Given the description of an element on the screen output the (x, y) to click on. 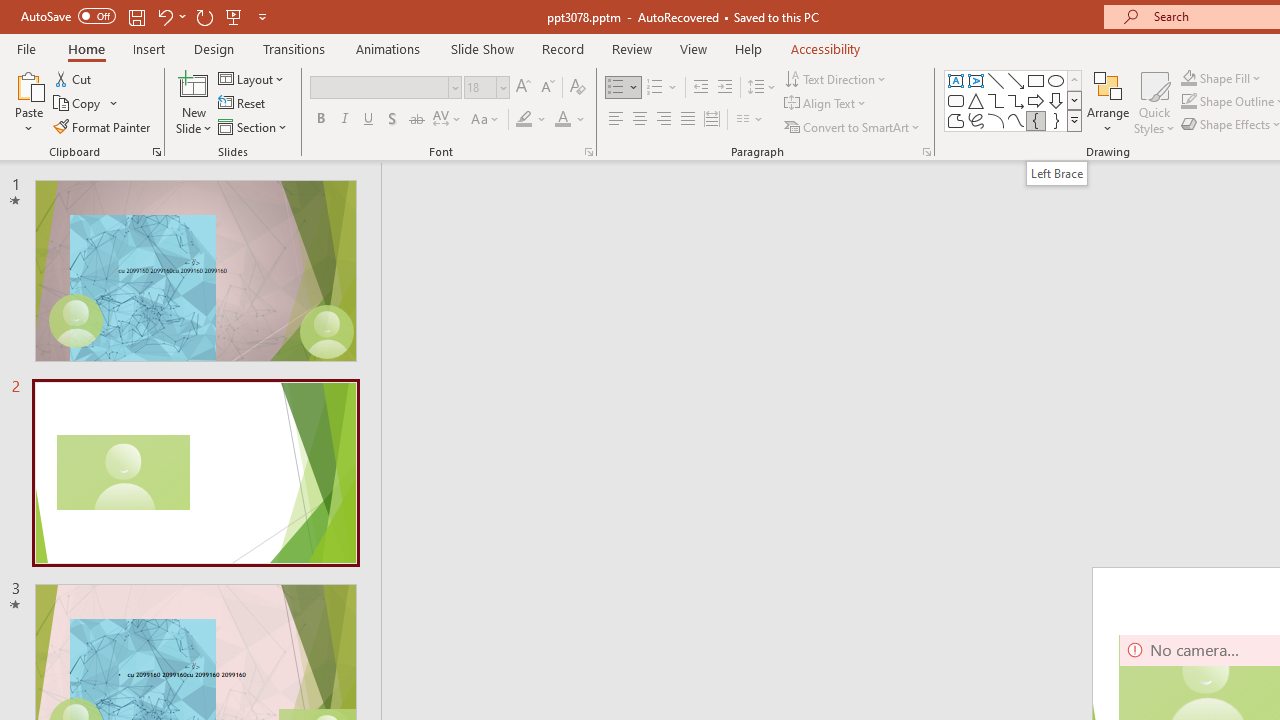
Right Brace (1055, 120)
Bullets (623, 87)
Connector: Elbow (995, 100)
Quick Styles (1154, 102)
Bold (320, 119)
Font Color Red (562, 119)
Left Brace (1035, 120)
Vertical Text Box (975, 80)
Left Brace (1057, 173)
Font Size (480, 87)
Text Box (955, 80)
